Given the description of an element on the screen output the (x, y) to click on. 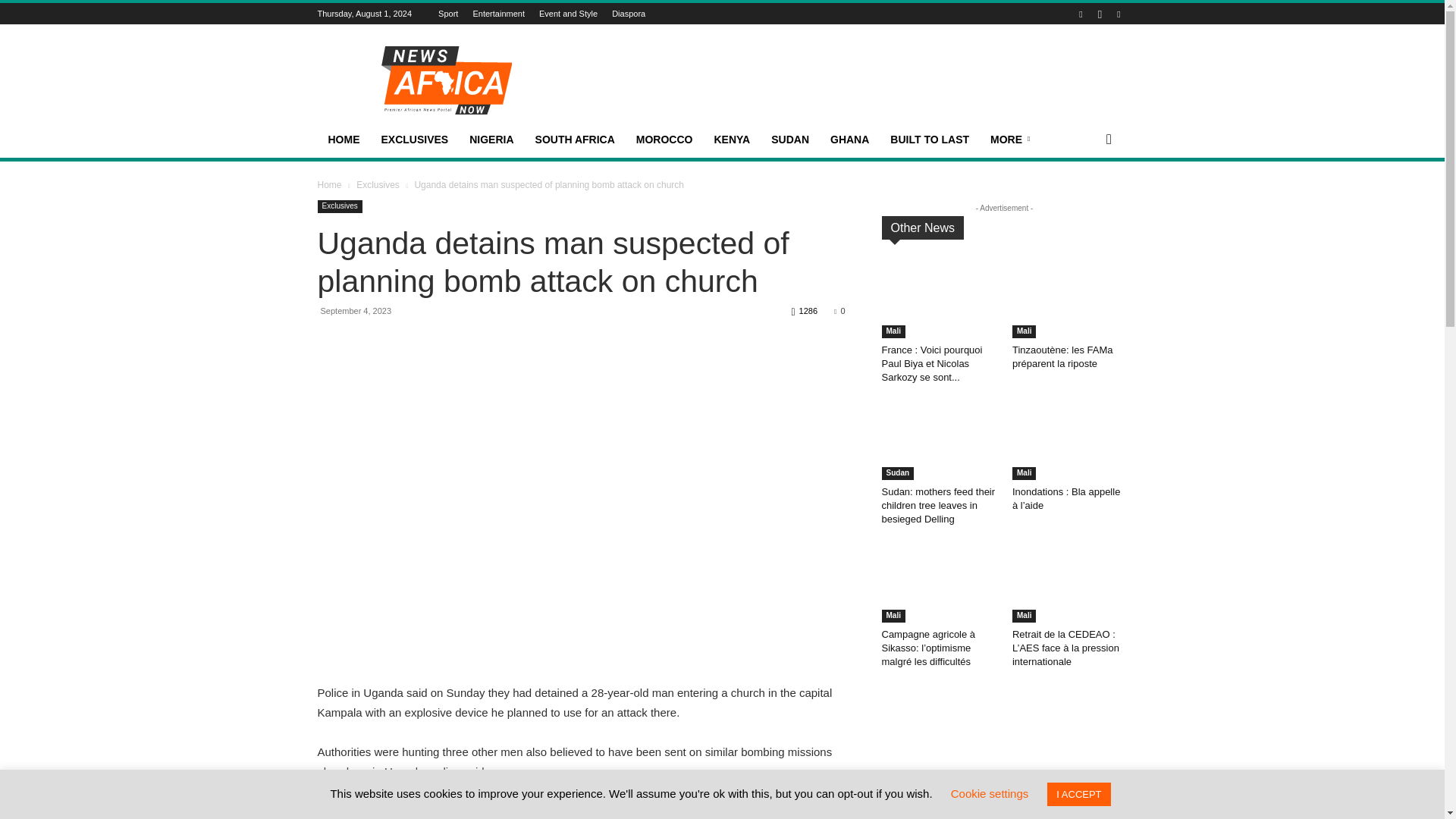
Diaspora (616, 13)
Entertainment (486, 13)
NIGERIA (491, 139)
MOROCCO (664, 139)
HOME (343, 139)
Sport (436, 13)
SOUTH AFRICA (575, 139)
Event and Style (556, 13)
EXCLUSIVES (413, 139)
View all posts in Exclusives (377, 184)
